Given the description of an element on the screen output the (x, y) to click on. 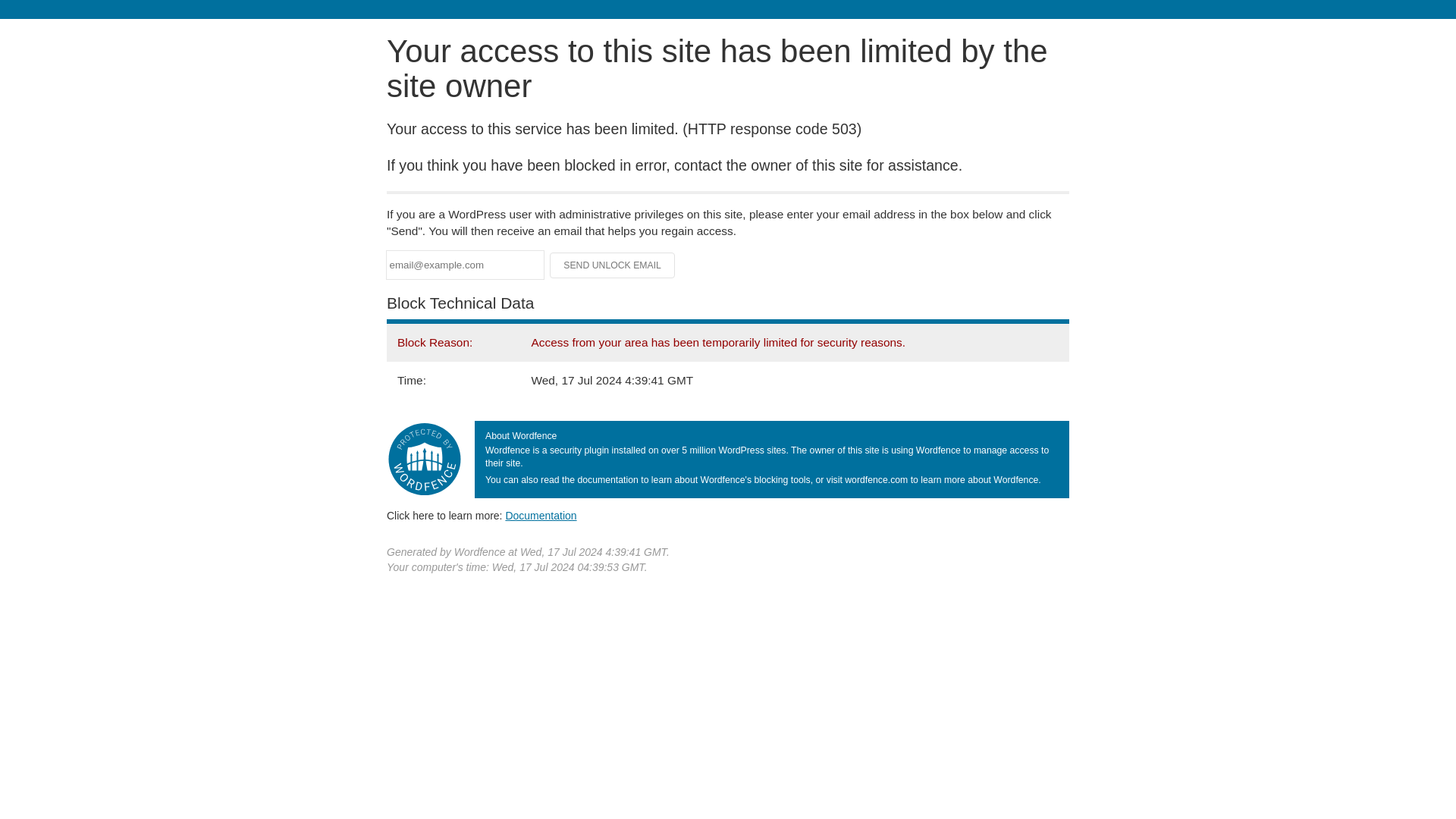
Send Unlock Email (612, 265)
Send Unlock Email (612, 265)
Documentation (540, 515)
